Given the description of an element on the screen output the (x, y) to click on. 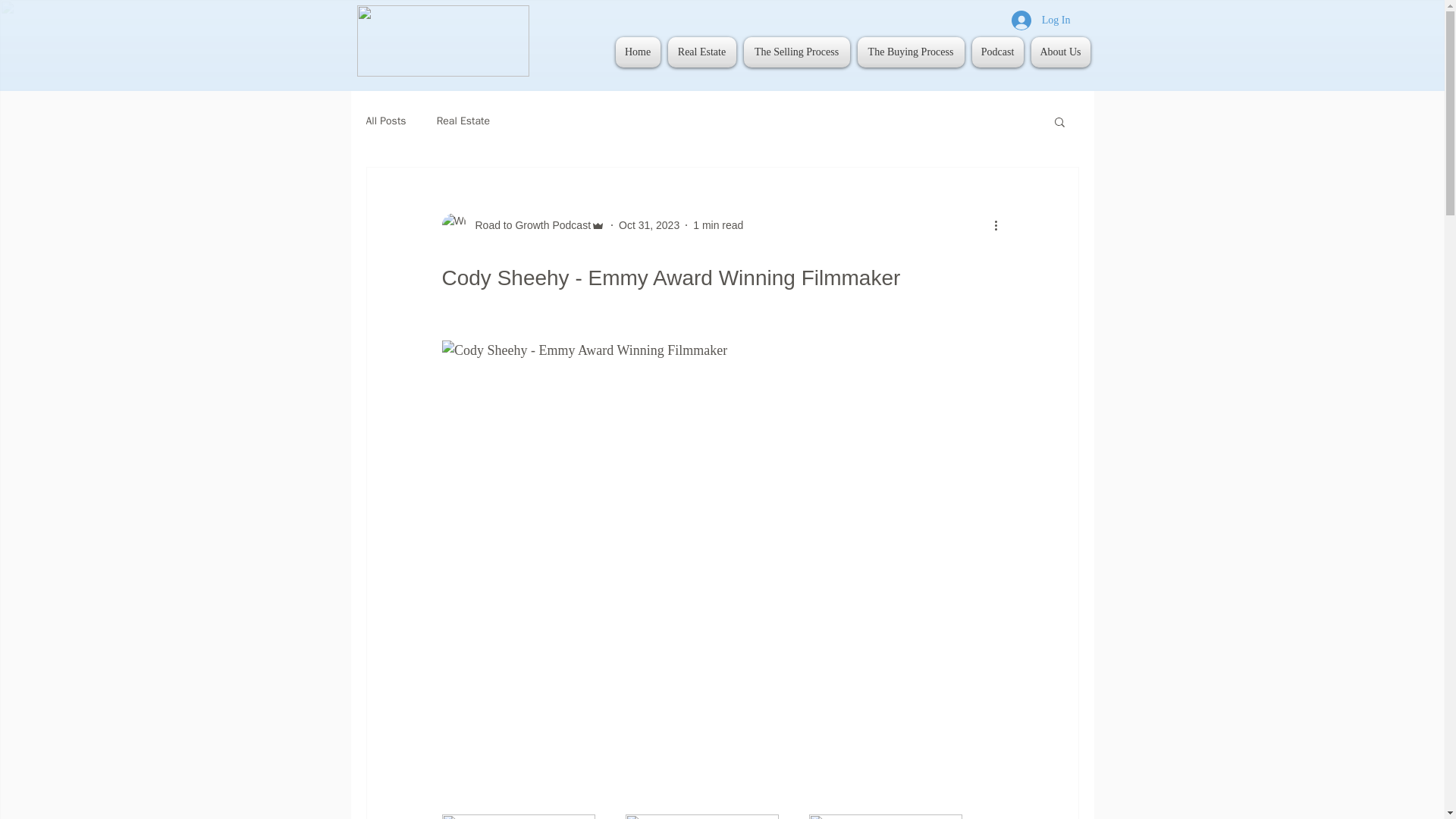
The Selling Process (796, 51)
Real Estate (701, 51)
All Posts (385, 120)
Road to Growth Podcast (523, 224)
Podcast (997, 51)
Oct 31, 2023 (648, 224)
Road to Growth Podcast (528, 224)
Real Estate (462, 120)
About Us (1057, 51)
Home (639, 51)
